Given the description of an element on the screen output the (x, y) to click on. 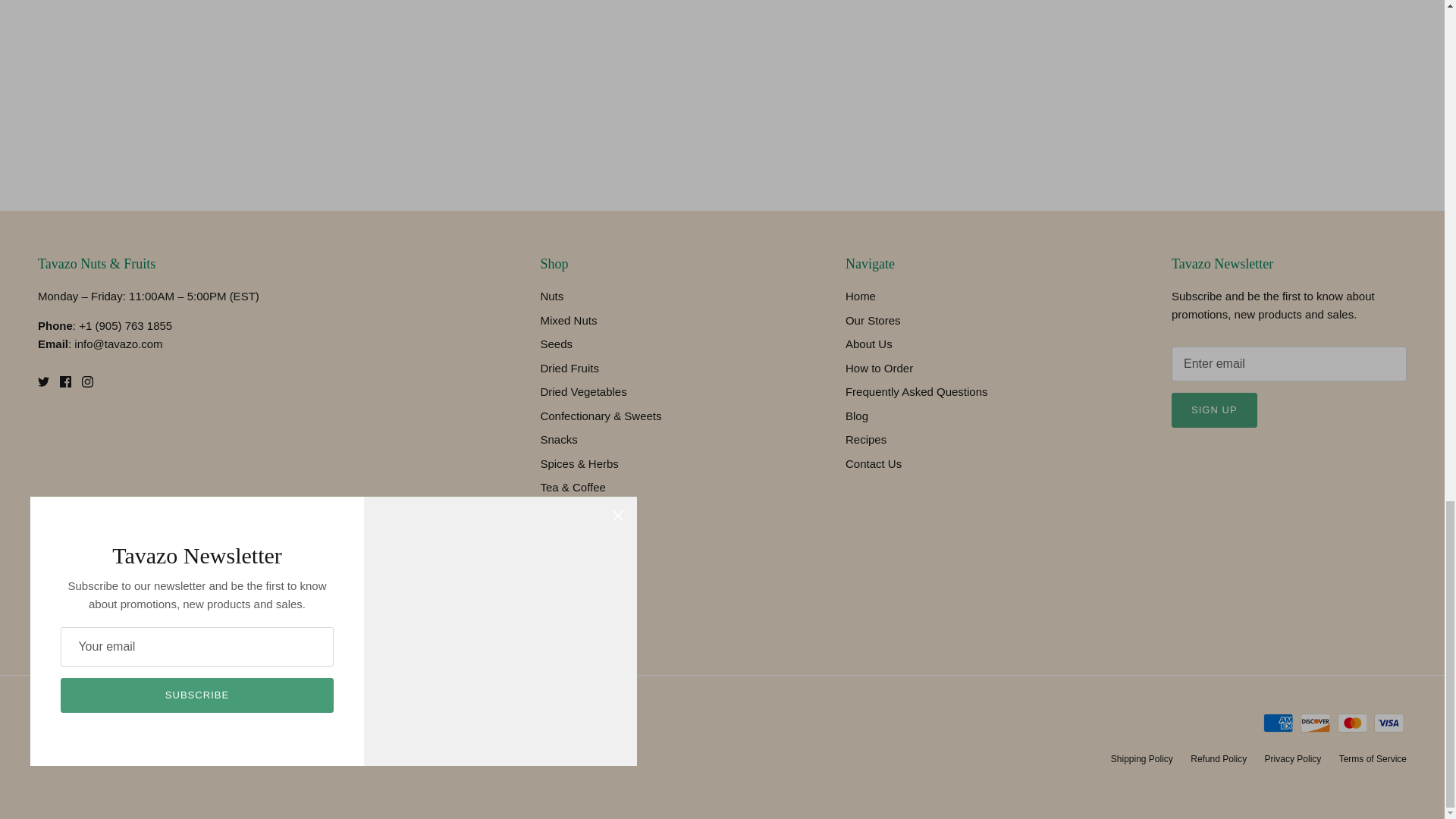
Visa (1388, 722)
American Express (1277, 722)
Discover (1315, 722)
Mastercard (1352, 722)
Twitter (43, 381)
Instagram (87, 381)
Facebook (65, 381)
